Given the description of an element on the screen output the (x, y) to click on. 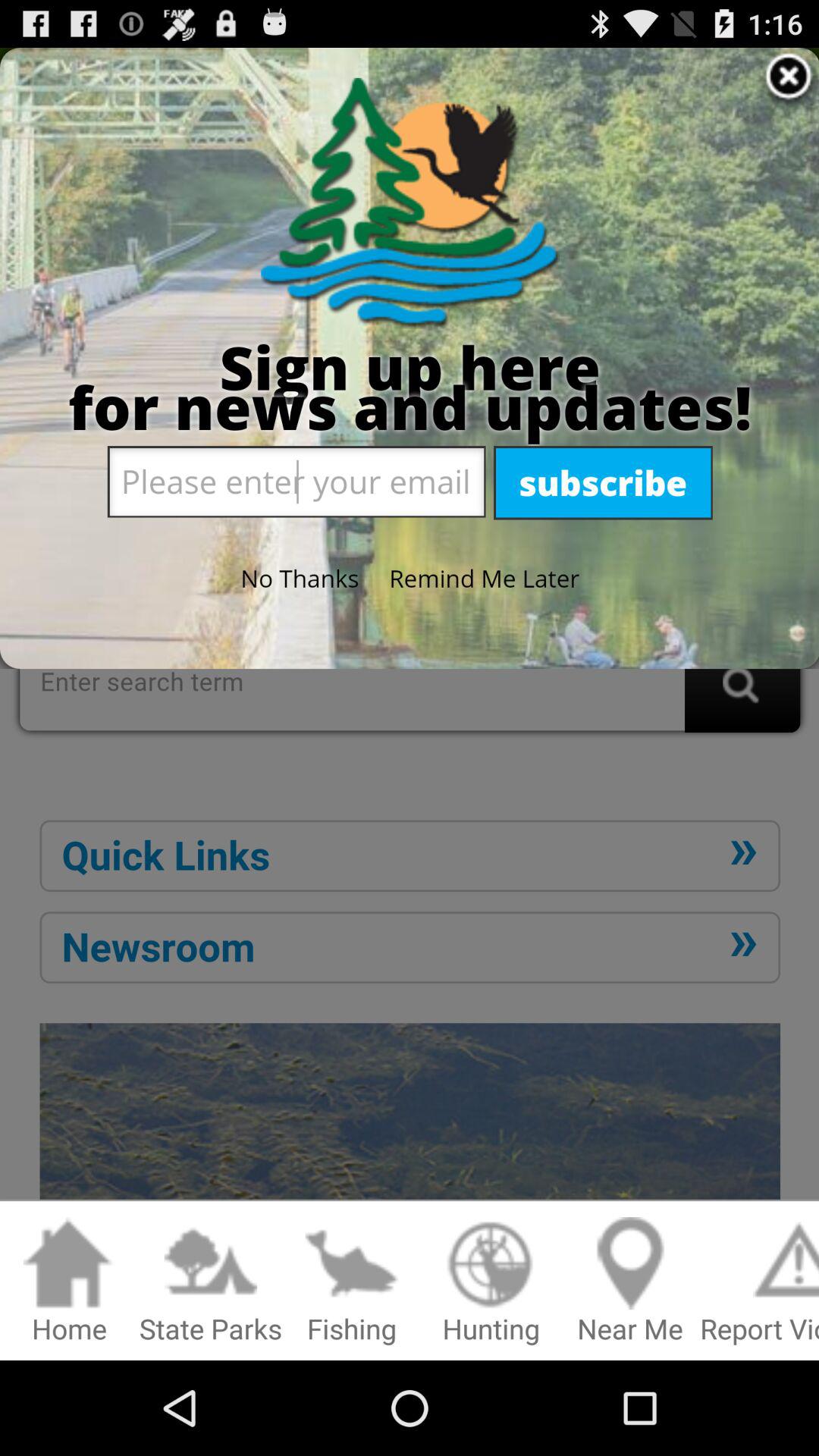
subscribe to email updates (409, 628)
